Given the description of an element on the screen output the (x, y) to click on. 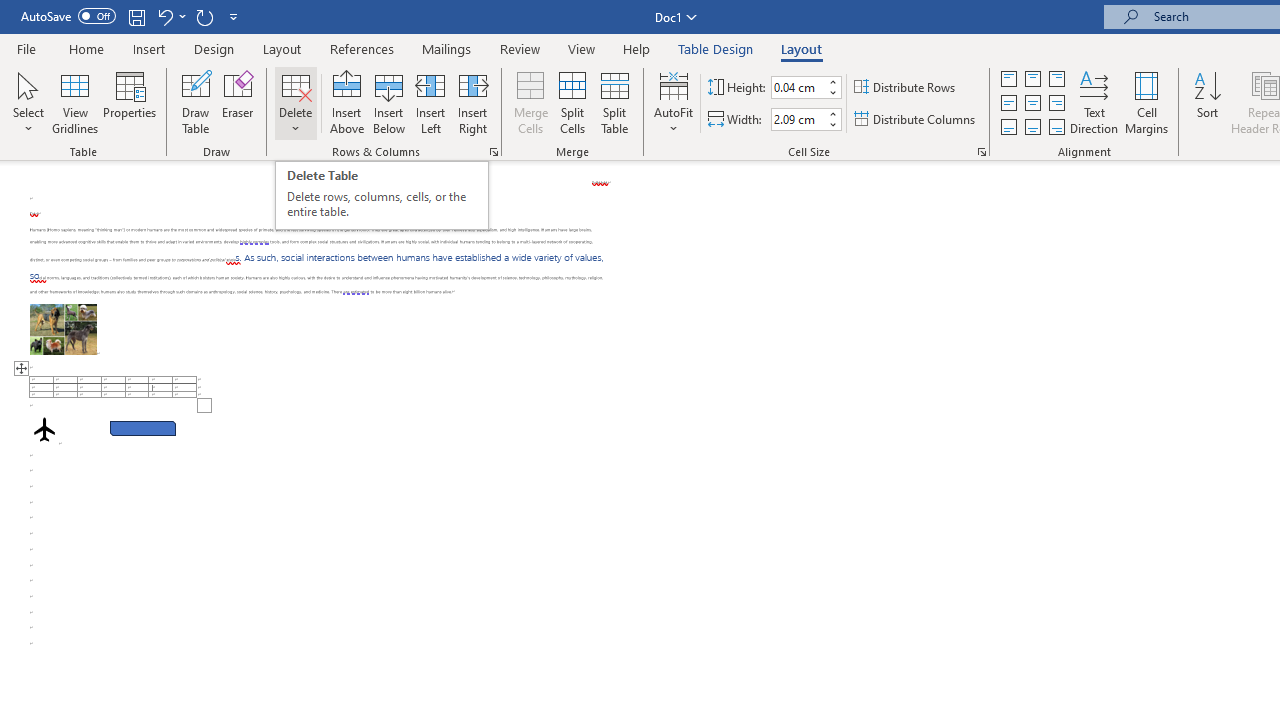
Insert Right (472, 102)
Align Center (1032, 103)
Repeat Row Height Spinner (204, 15)
AutoFit (673, 102)
Text Direction (1094, 102)
Split Cells... (572, 102)
Split Table (614, 102)
Draw Table (196, 102)
Distribute Columns (916, 119)
Airplane with solid fill (43, 429)
